Given the description of an element on the screen output the (x, y) to click on. 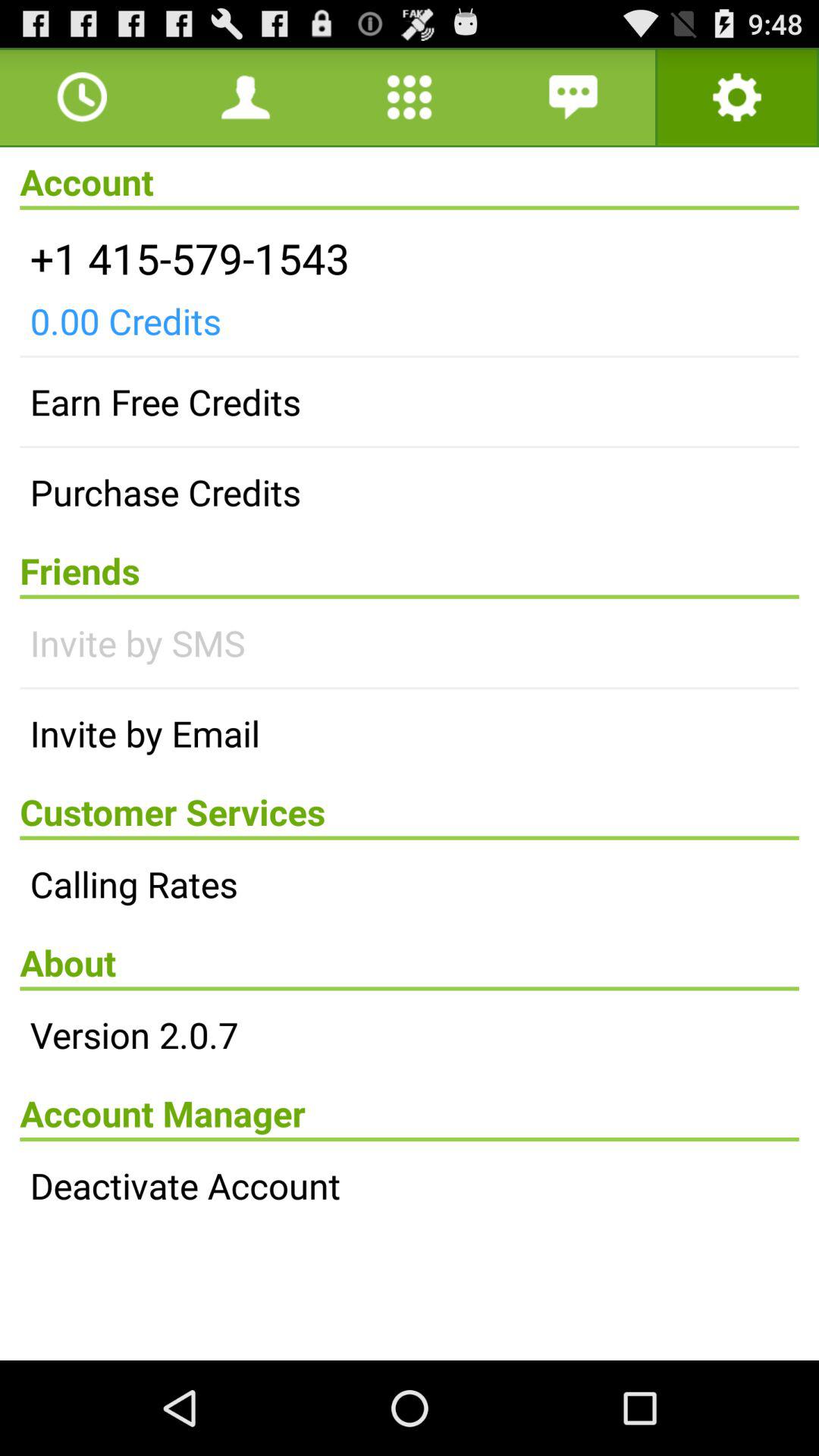
tap deactivate account item (409, 1185)
